Given the description of an element on the screen output the (x, y) to click on. 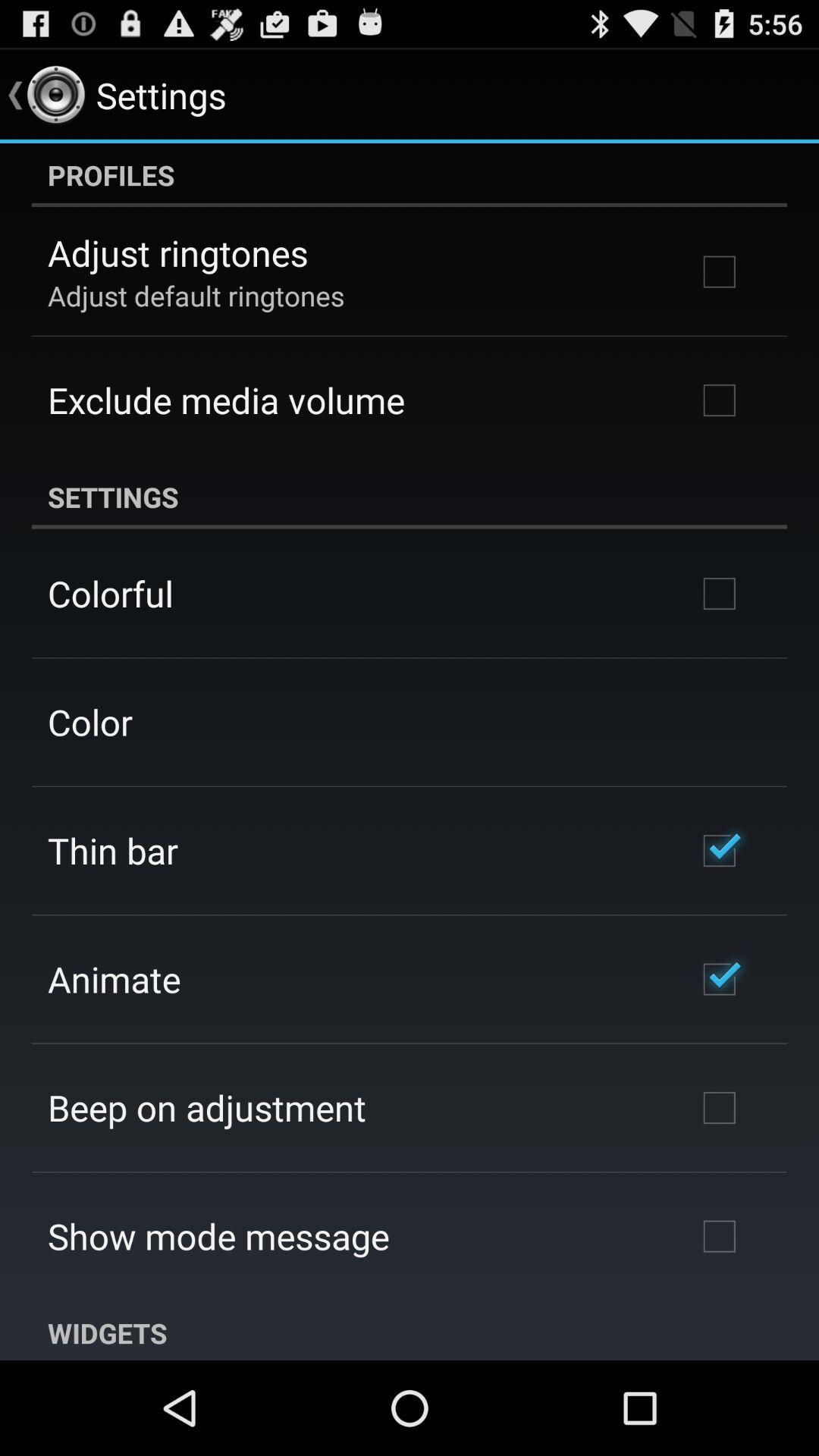
open app at the top (409, 175)
